Given the description of an element on the screen output the (x, y) to click on. 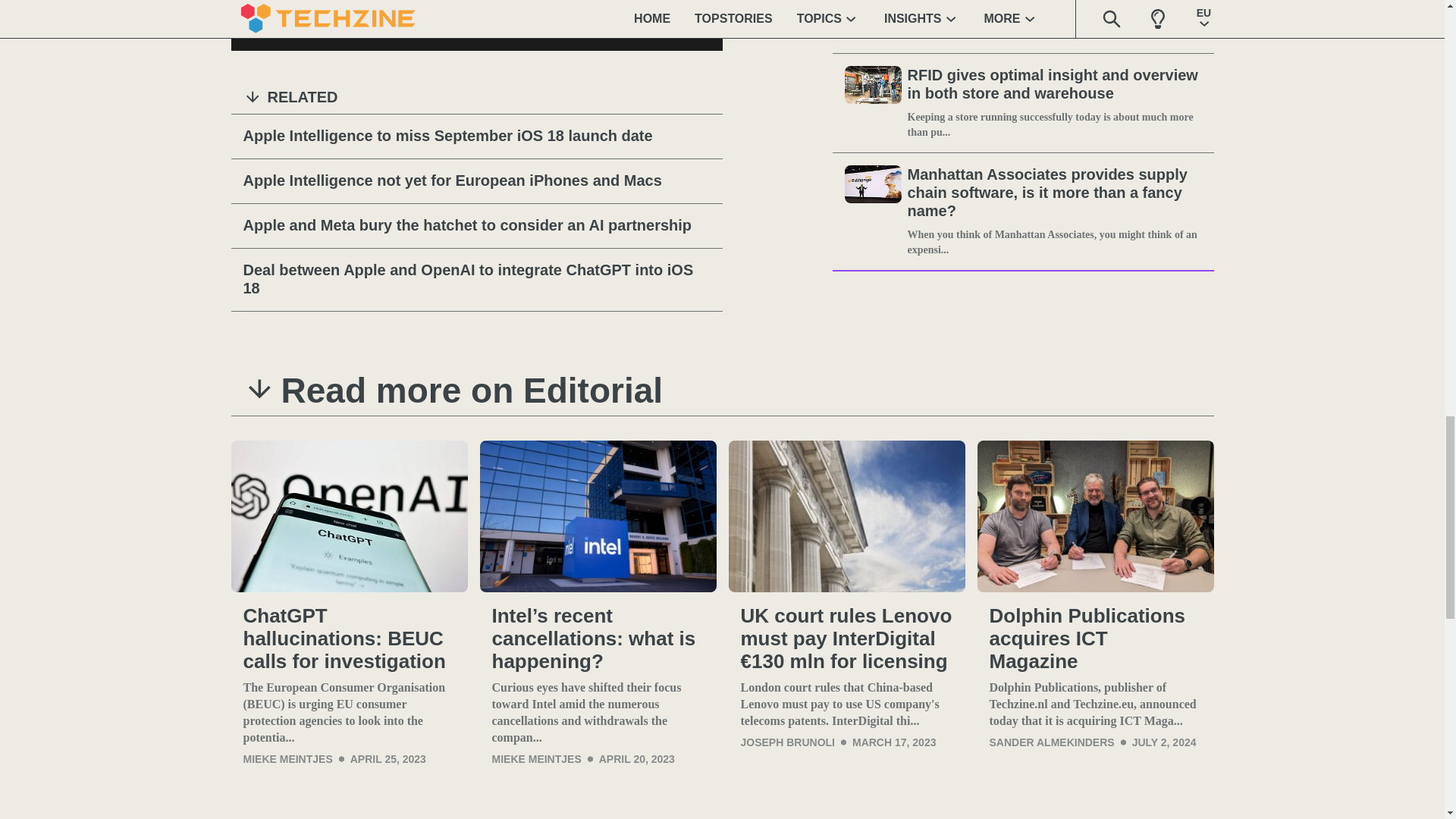
ChatGPT hallucinations: BEUC calls for investigation (348, 638)
84623981521405447 (378, 27)
ChatGPT hallucinations: BEUC calls for investigation (348, 516)
84623970802861205 (251, 27)
Apple Intelligence to miss September iOS 18 launch date (476, 136)
Apple Intelligence not yet for European iPhones and Macs (476, 180)
